Given the description of an element on the screen output the (x, y) to click on. 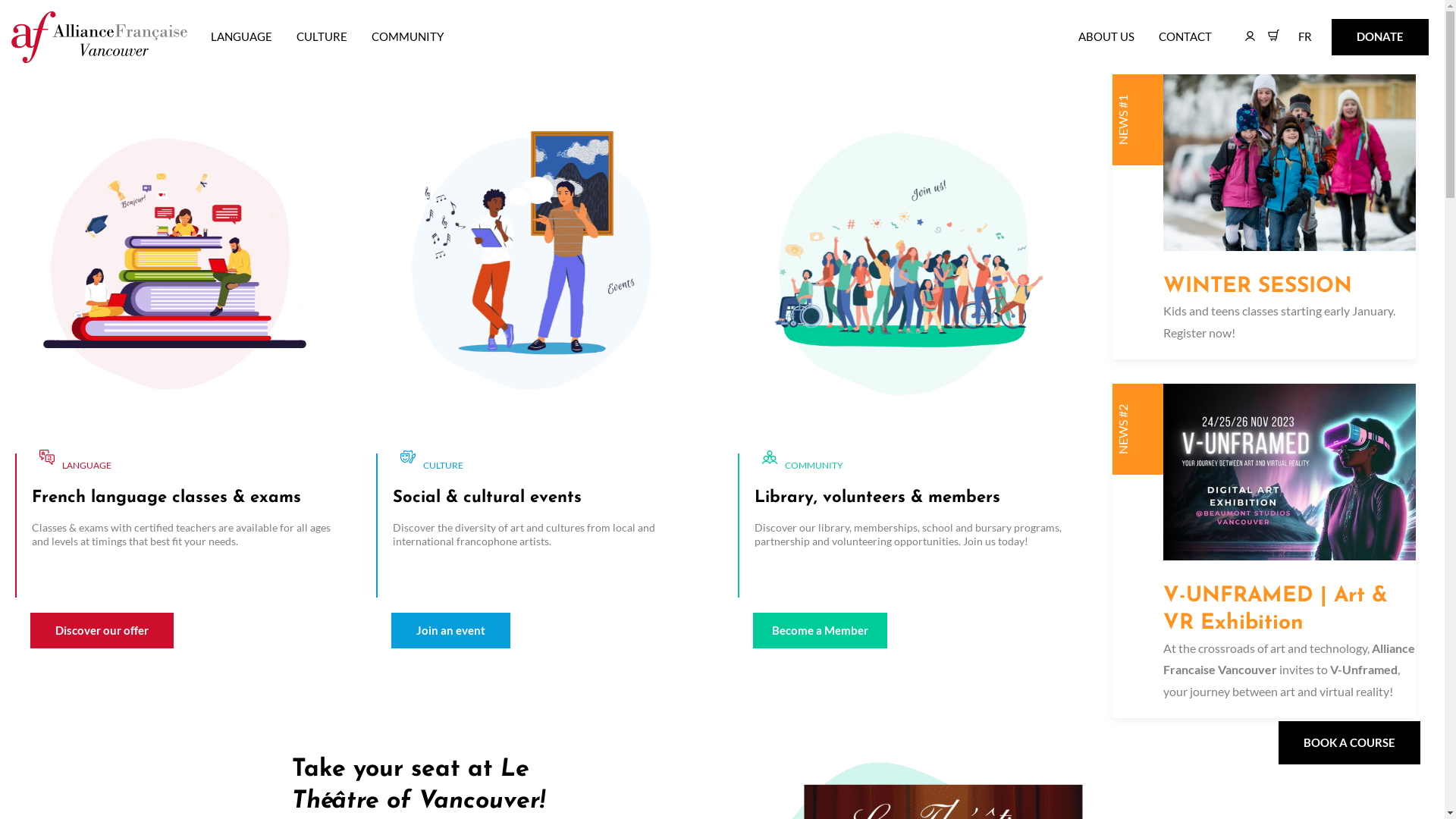
LANGUAGE Element type: text (241, 36)
BOOK A COURSE Element type: text (1349, 742)
COMMUNITY Element type: text (407, 36)
DONATE Element type: text (1379, 36)
ABOUT US Element type: text (1106, 36)
FR Element type: text (1307, 36)
CULTURE Element type: text (321, 36)
CONTACT Element type: text (1184, 36)
